Given the description of an element on the screen output the (x, y) to click on. 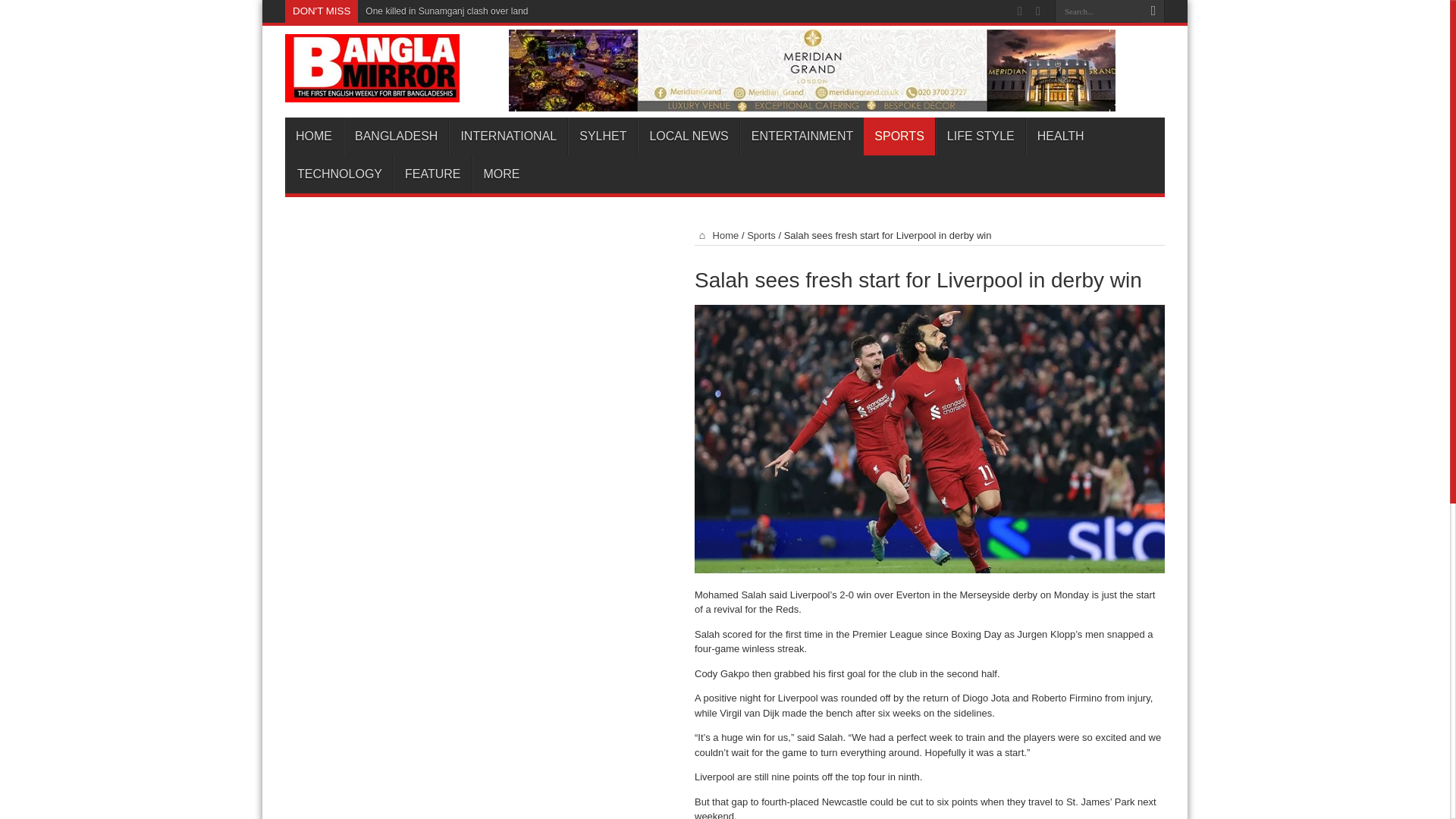
Search (1152, 11)
LOCAL NEWS (687, 136)
TECHNOLOGY (339, 174)
One killed in Sunamganj clash over land (446, 11)
HEALTH (1060, 136)
Home (716, 235)
ENTERTAINMENT (801, 136)
Search... (1097, 11)
Sports (761, 235)
MORE (500, 174)
